Given the description of an element on the screen output the (x, y) to click on. 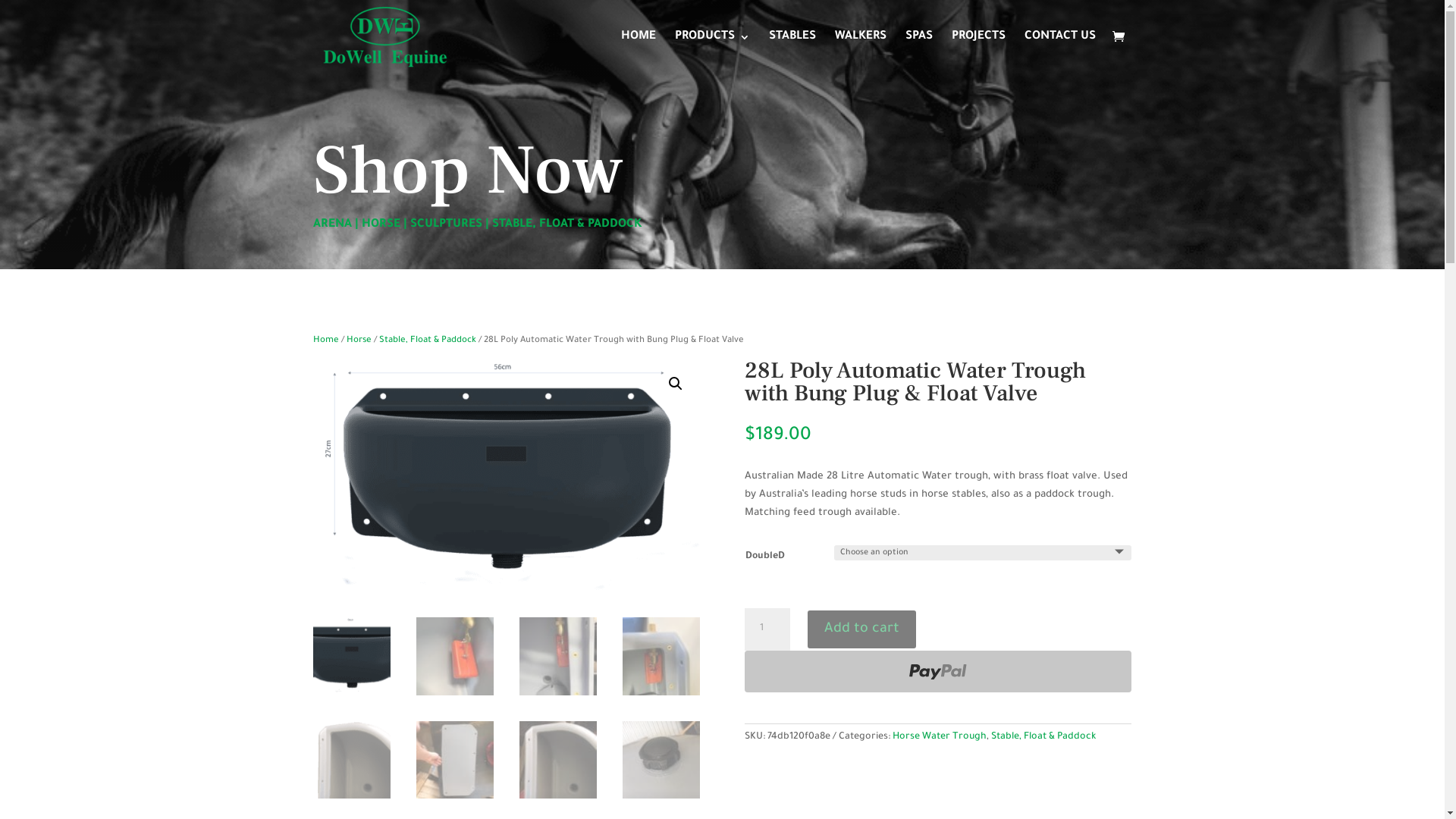
Home Element type: text (325, 340)
Stable, Float & Paddock Element type: text (427, 340)
SCULPTURES Element type: text (445, 224)
PayPal Element type: hover (937, 671)
ARENA Element type: text (331, 224)
PROJECTS Element type: text (977, 52)
STABLES Element type: text (791, 52)
Horse Water Trough Element type: text (939, 736)
STABLE, FLOAT & PADDOCK Element type: text (566, 224)
WALKERS Element type: text (859, 52)
Add to cart Element type: text (861, 629)
HOME Element type: text (637, 52)
SPAS Element type: text (918, 52)
CONTACT US Element type: text (1059, 52)
Horse Element type: text (357, 340)
Stable, Float & Paddock Element type: text (1043, 736)
HORSE Element type: text (379, 224)
Stable_feed_bin_water_trough Element type: hover (505, 475)
PRODUCTS Element type: text (711, 52)
